Given the description of an element on the screen output the (x, y) to click on. 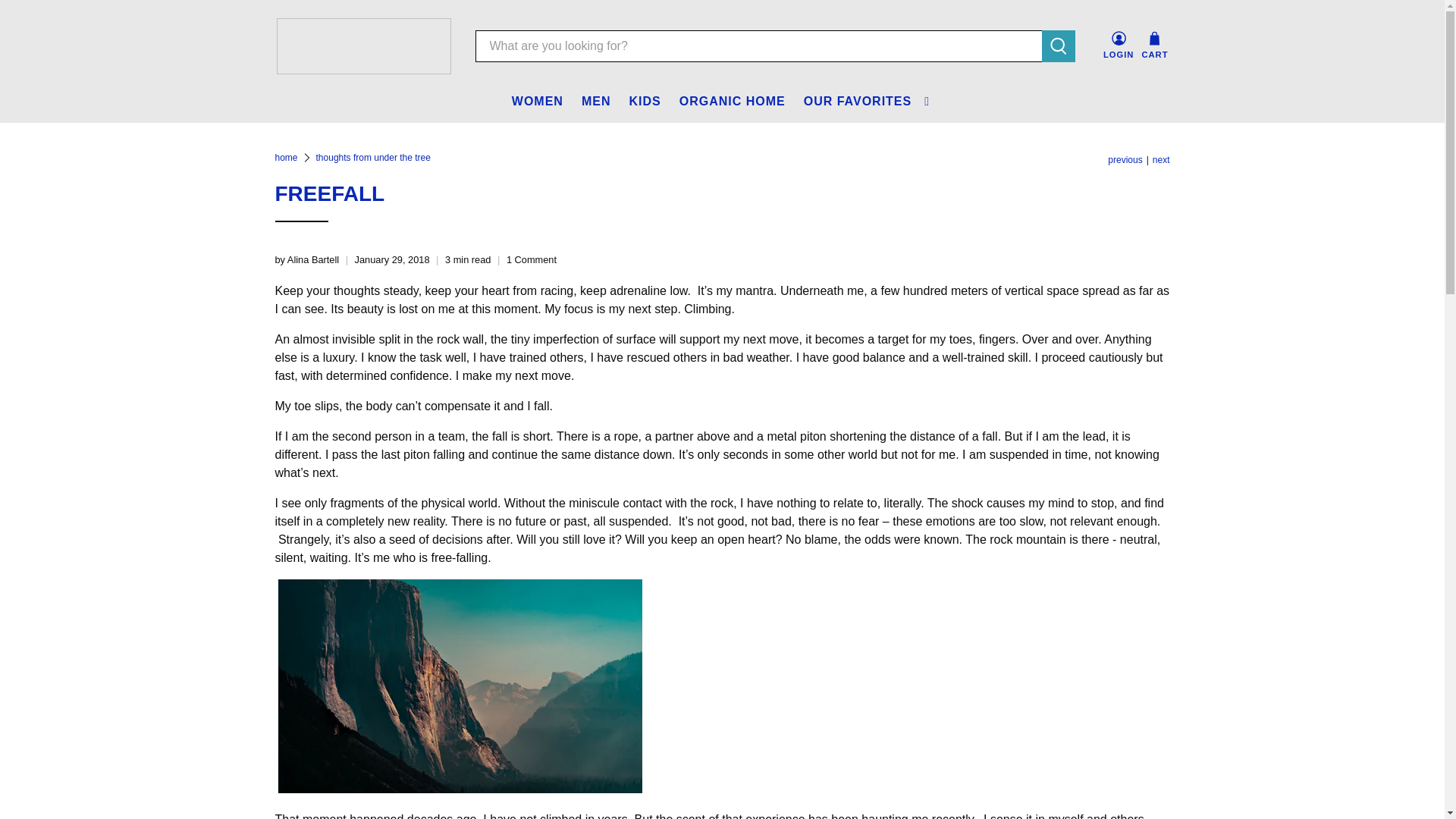
Natural Clothing Company (362, 46)
OUR FAVORITES (868, 101)
Previous (1124, 159)
Next (1161, 159)
KIDS (644, 101)
Thoughts from Under the Tree (372, 157)
Natural Clothing Company (286, 157)
MEN (596, 101)
ORGANIC HOME (731, 101)
CART (1154, 45)
